Given the description of an element on the screen output the (x, y) to click on. 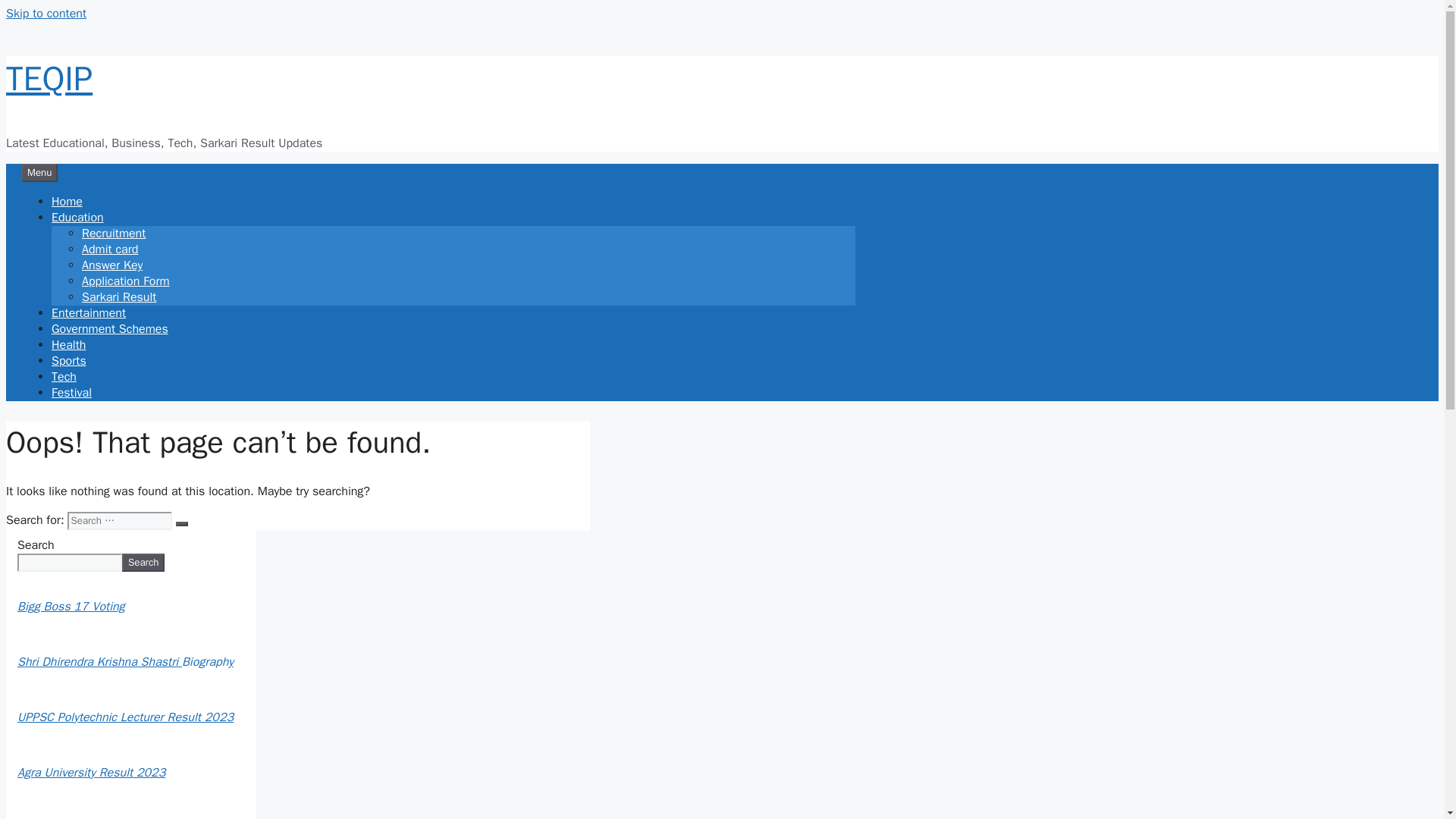
Search (143, 562)
Festival (70, 392)
Recruitment (113, 233)
Menu (39, 172)
Tech (63, 376)
Search for: (118, 520)
Entertainment (87, 313)
Health (67, 344)
Home (66, 201)
UPPSC Polytechnic Lecturer Result 2023 (124, 717)
TEQIP (49, 78)
Government Schemes (109, 328)
Sarkari Result (118, 296)
Admit card (109, 249)
Skip to content (45, 13)
